Given the description of an element on the screen output the (x, y) to click on. 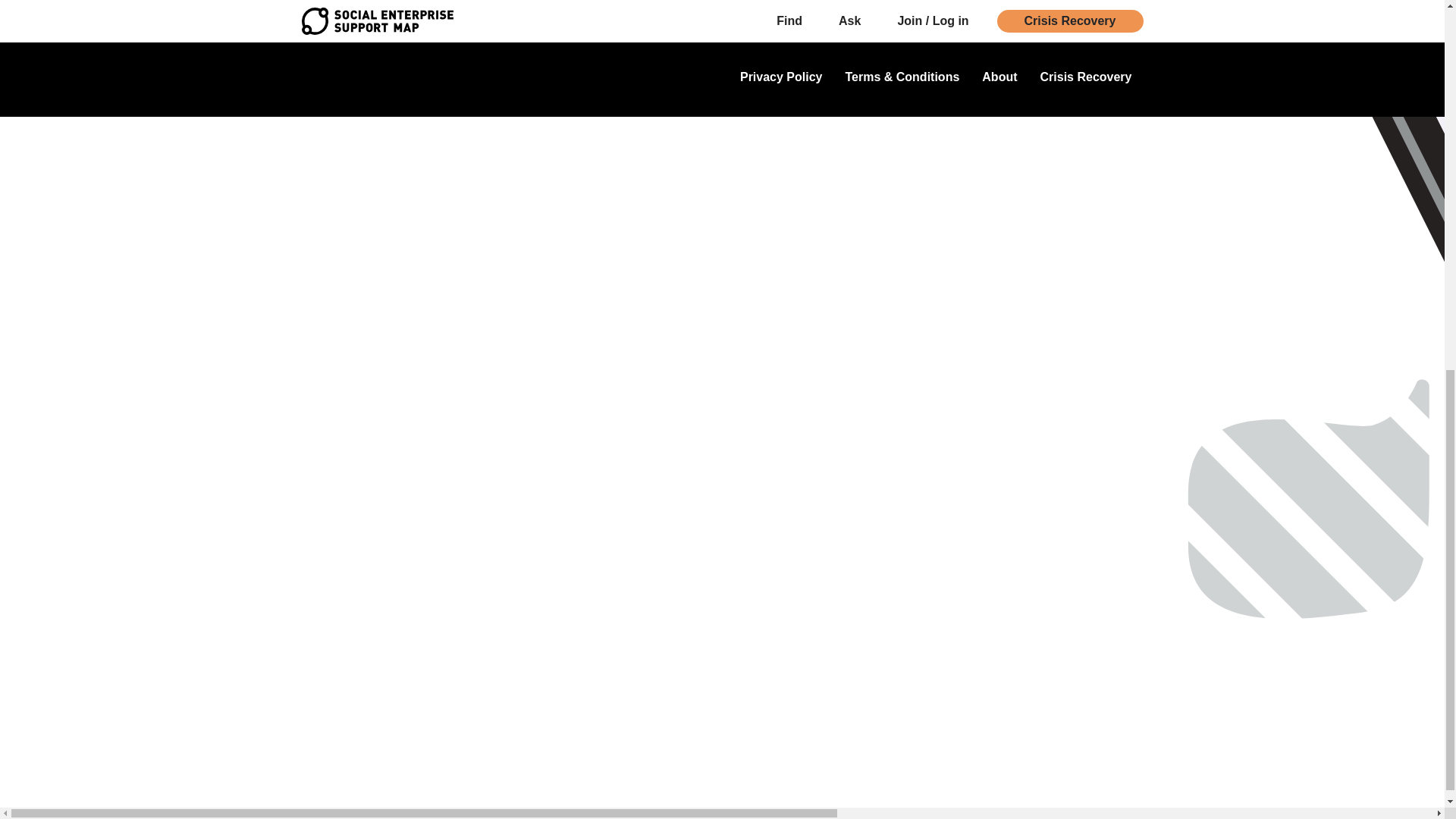
About (998, 79)
Crisis Recovery (1086, 79)
Privacy Policy (780, 79)
